Given the description of an element on the screen output the (x, y) to click on. 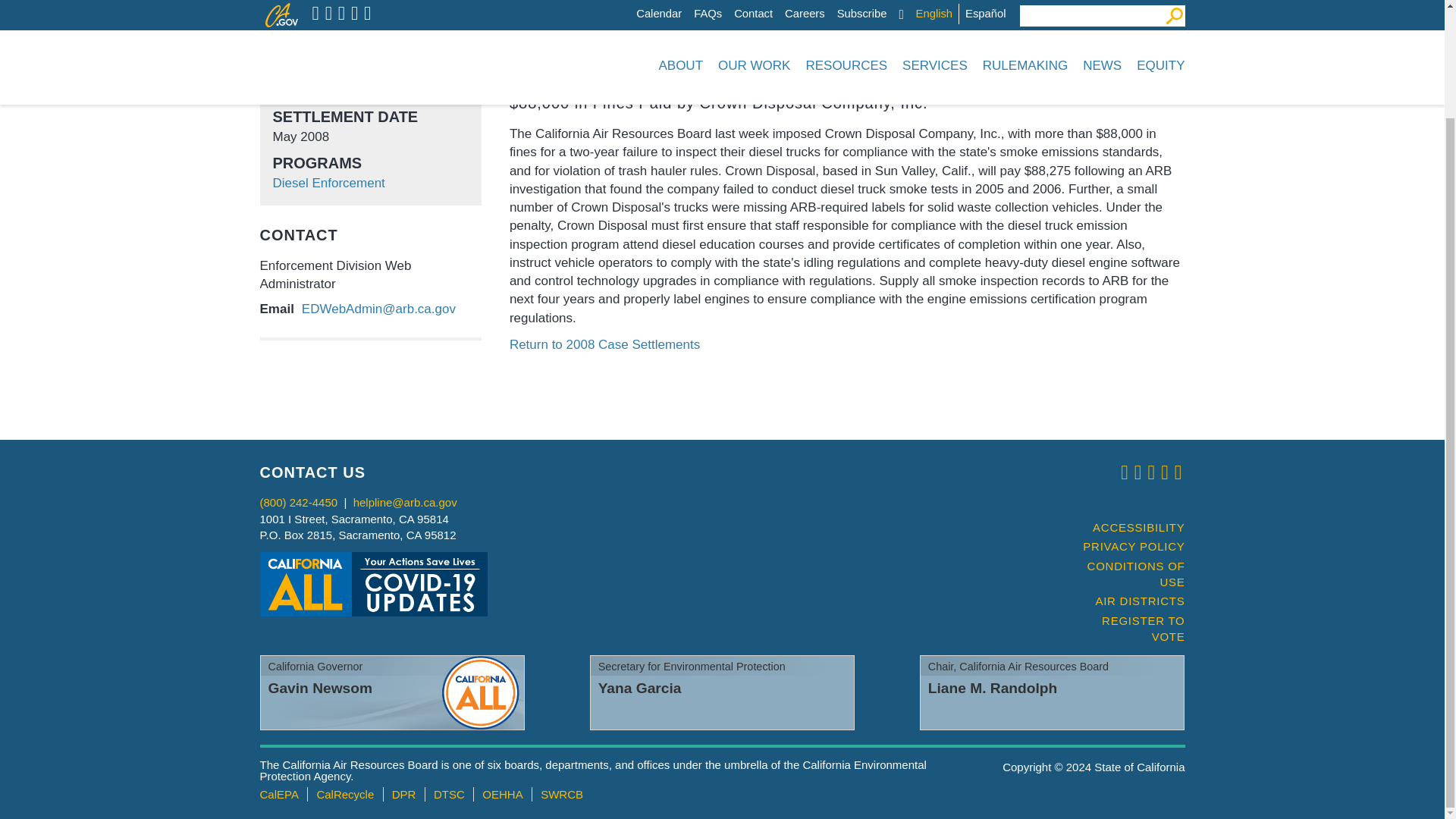
California Environmental Protection Agency (278, 794)
Diesel Enforcement (329, 183)
BACK TO CASE SETTLEMENTS (1091, 58)
California online voter registration (1127, 628)
Return to 2008 Case Settlements (604, 344)
